Given the description of an element on the screen output the (x, y) to click on. 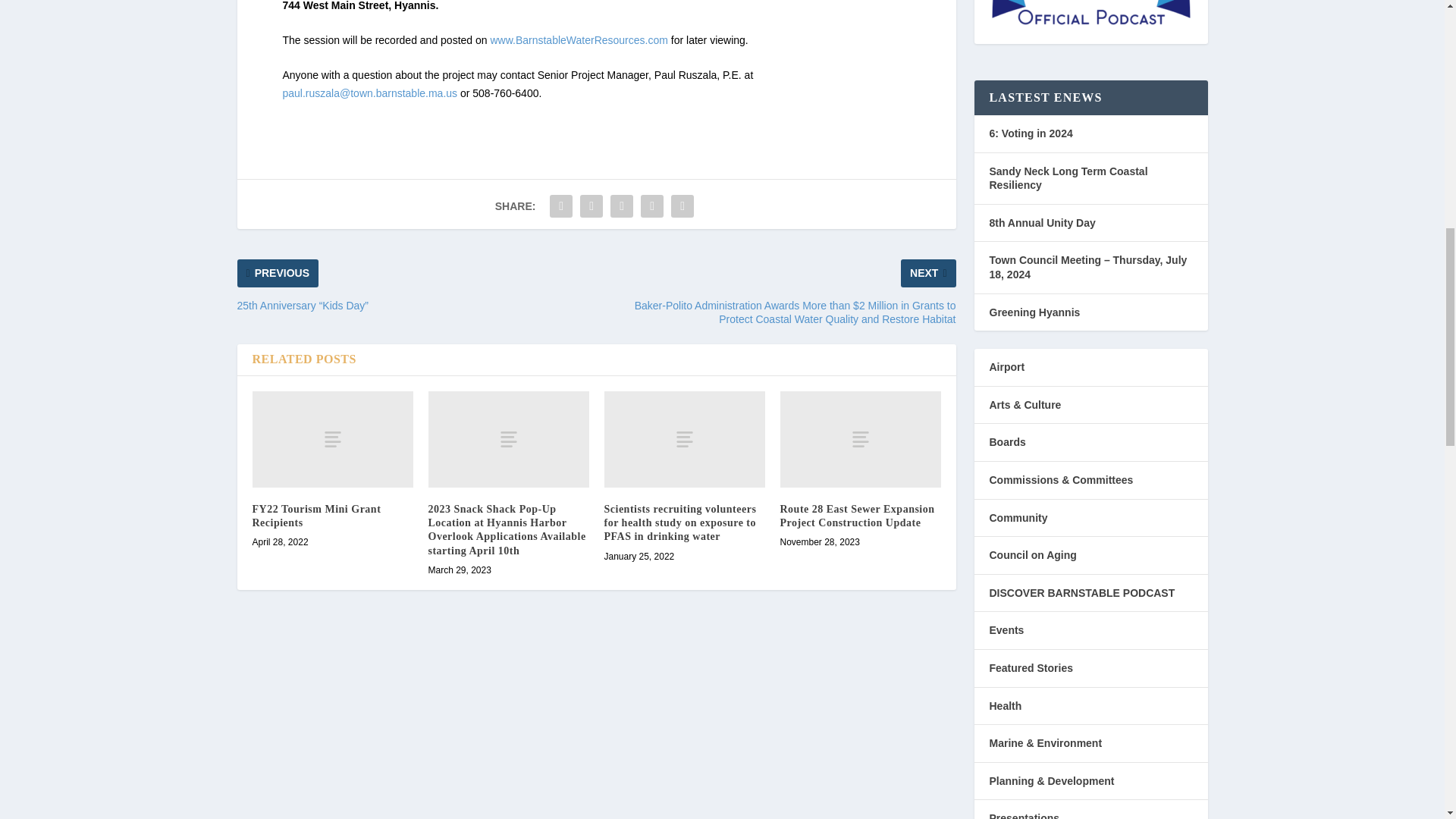
www.BarnstableWaterResources.com (577, 39)
FY22 Tourism Mini Grant Recipients (331, 439)
Route 28 East Sewer Expansion Project  Construction Update (859, 439)
FY22 Tourism Mini Grant Recipients (315, 515)
